Given the description of an element on the screen output the (x, y) to click on. 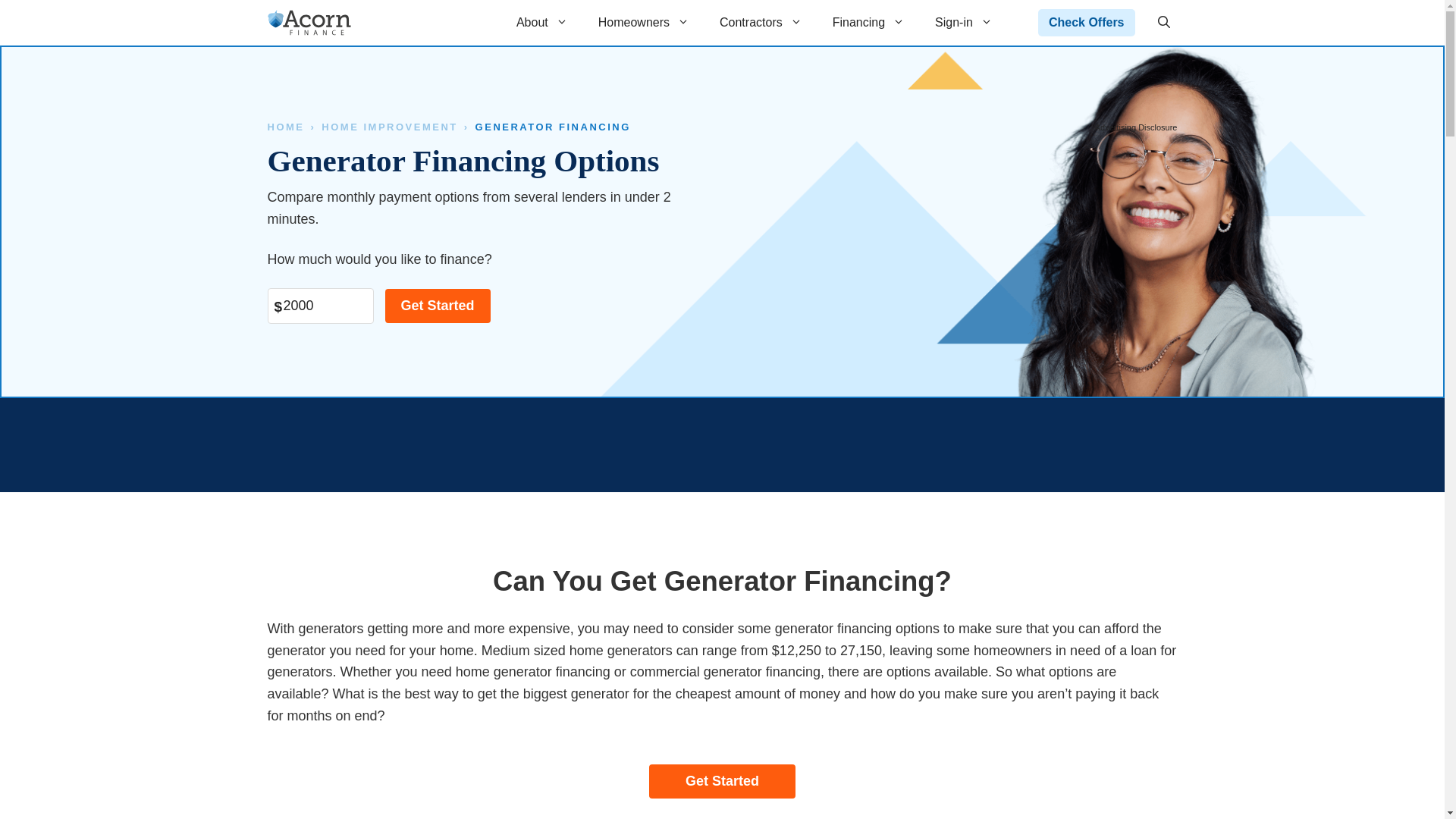
Get Started (437, 305)
Customer reviews powered by Trustpilot (721, 444)
2000 (319, 305)
Homeowners (643, 22)
About (541, 22)
